Given the description of an element on the screen output the (x, y) to click on. 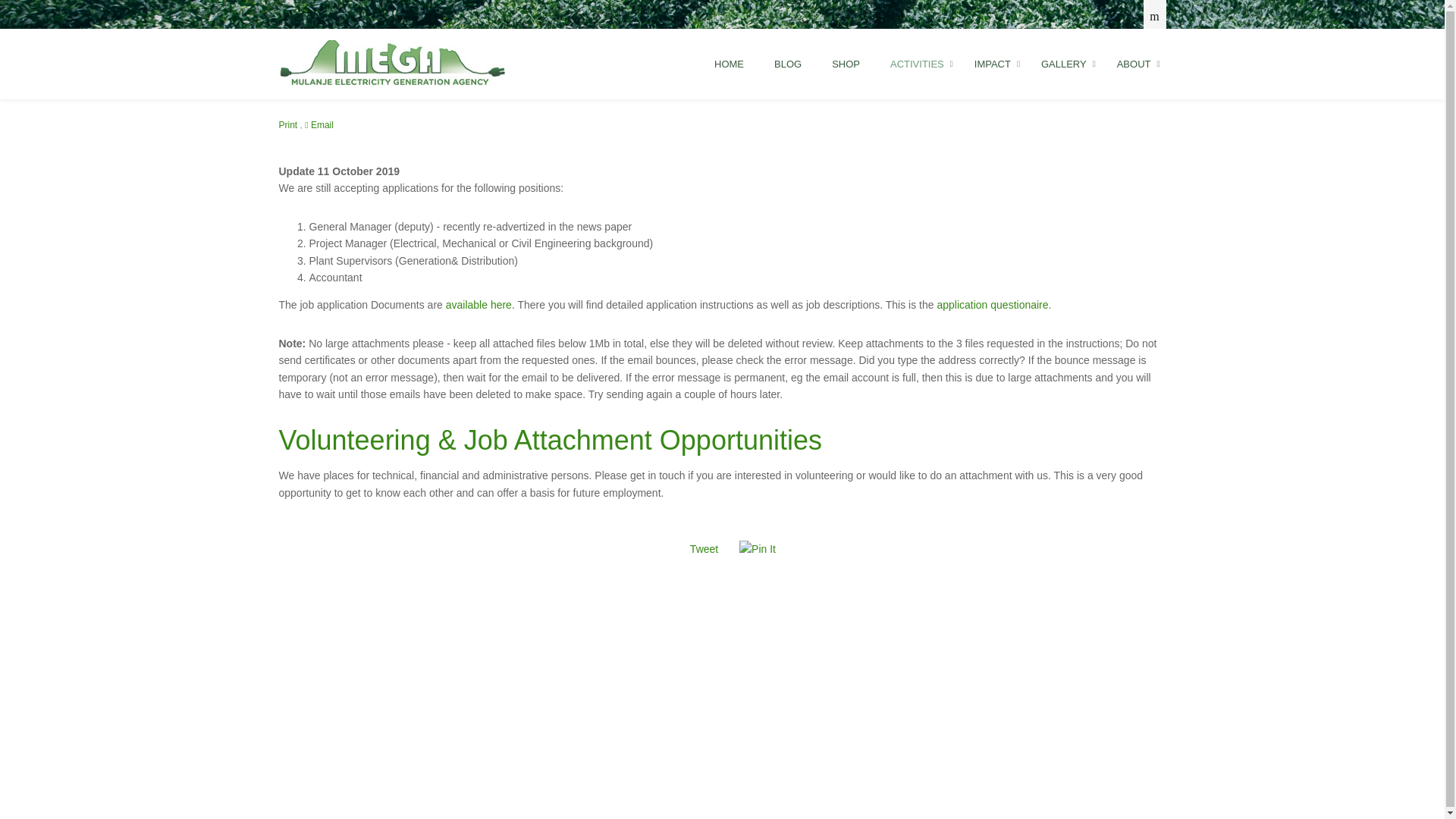
ACTIVITIES (917, 63)
Print (289, 124)
Email this link to a friend (318, 124)
Pin It (757, 548)
Email (318, 124)
application questionaire (992, 304)
Job Adverts (478, 304)
Tweet (703, 548)
IMPACT (992, 63)
available here (478, 304)
